Given the description of an element on the screen output the (x, y) to click on. 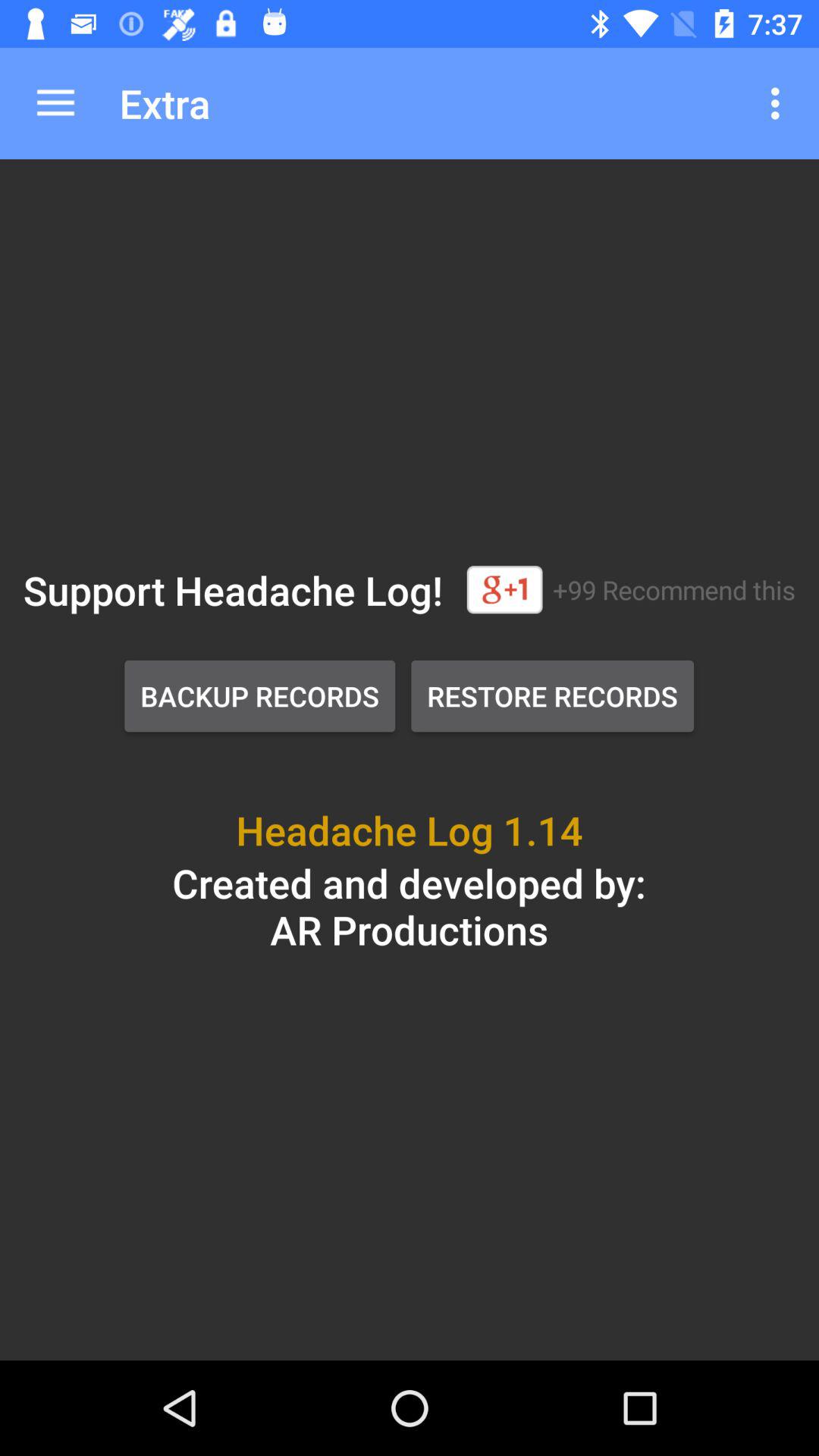
launch the item to the right of the backup records button (552, 695)
